Given the description of an element on the screen output the (x, y) to click on. 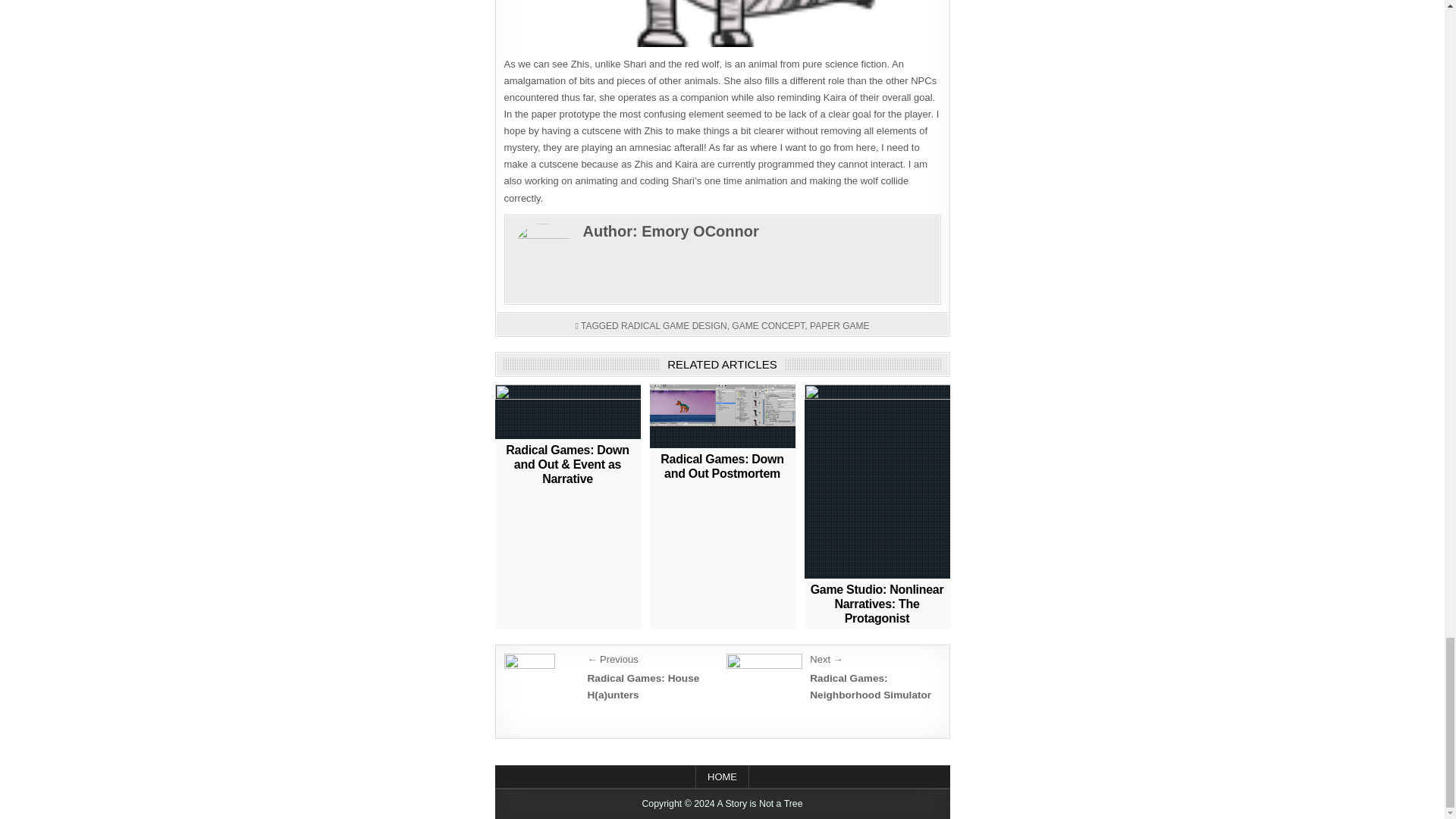
Radical Games: Neighborhood Simulator (764, 681)
Permanent Link to Radical Games: Down and Out Postmortem (722, 465)
Permanent Link to Radical Games: Down and Out Postmortem (721, 416)
